Given the description of an element on the screen output the (x, y) to click on. 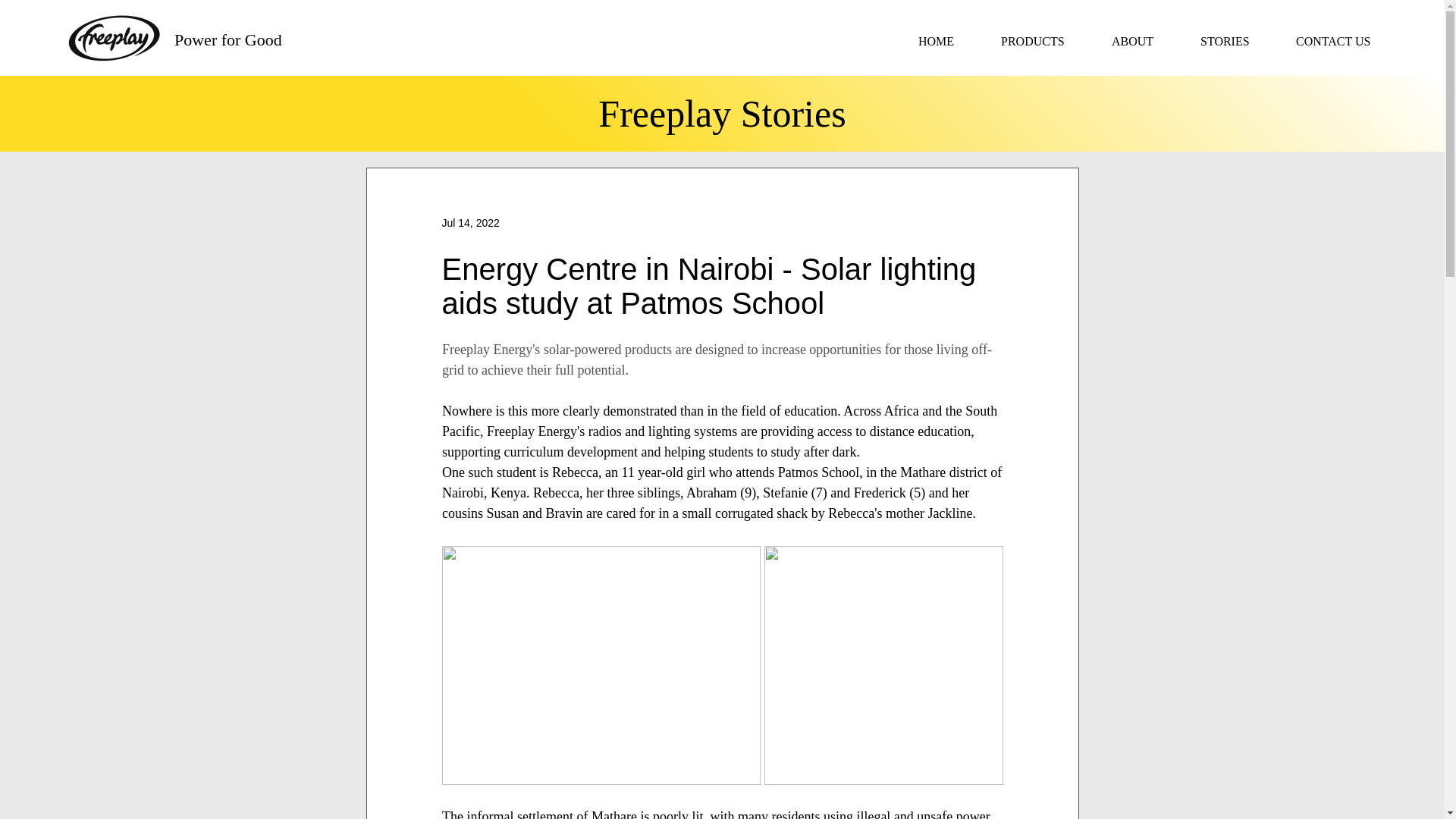
STORIES (1236, 41)
HOME (948, 41)
Jul 14, 2022 (470, 223)
ABOUT (1144, 41)
